Given the description of an element on the screen output the (x, y) to click on. 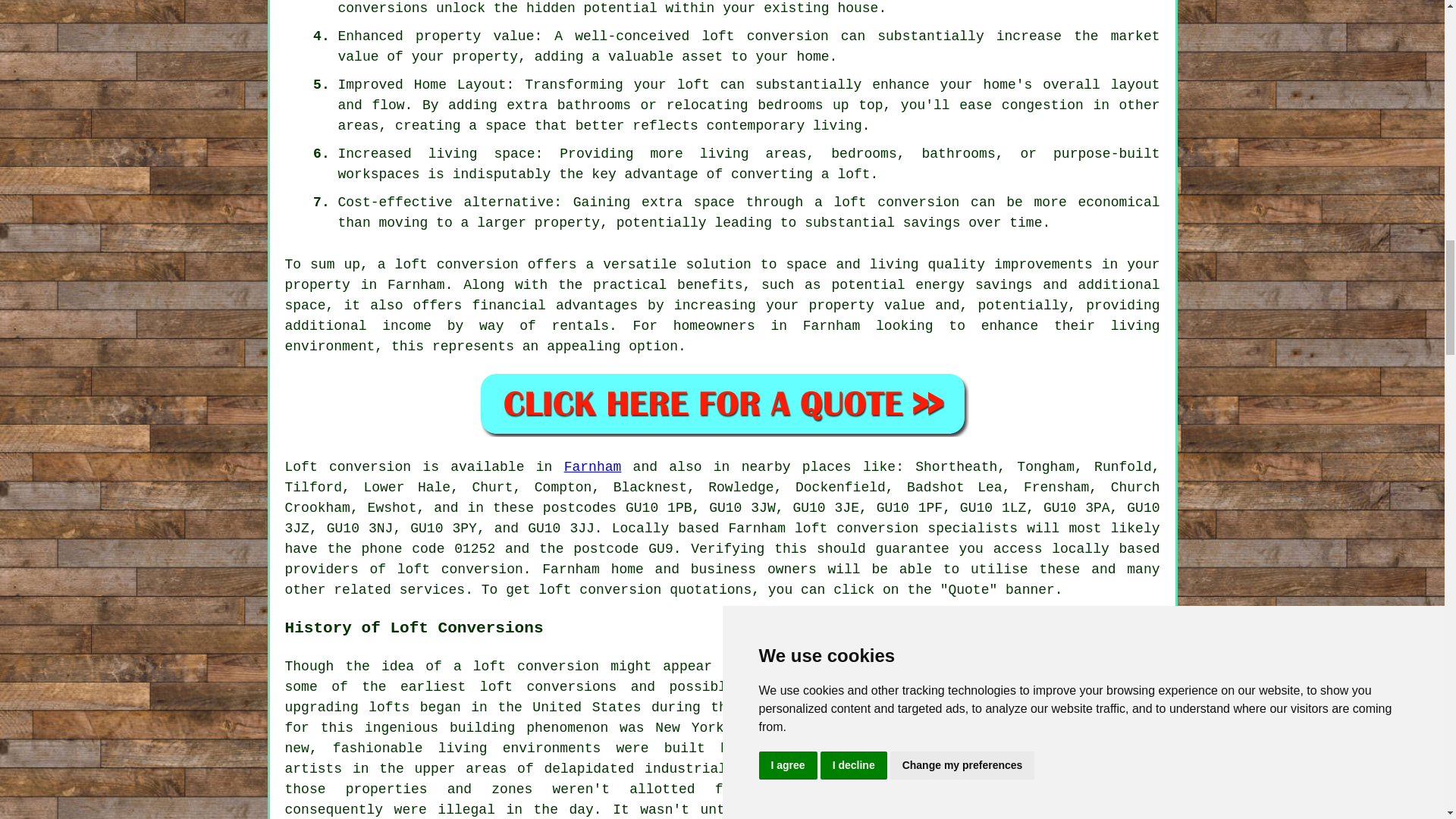
loft conversion (456, 264)
Loft conversion (348, 467)
a loft conversion (525, 665)
Converting Lofts Farnham Surrey (1046, 730)
